Given the description of an element on the screen output the (x, y) to click on. 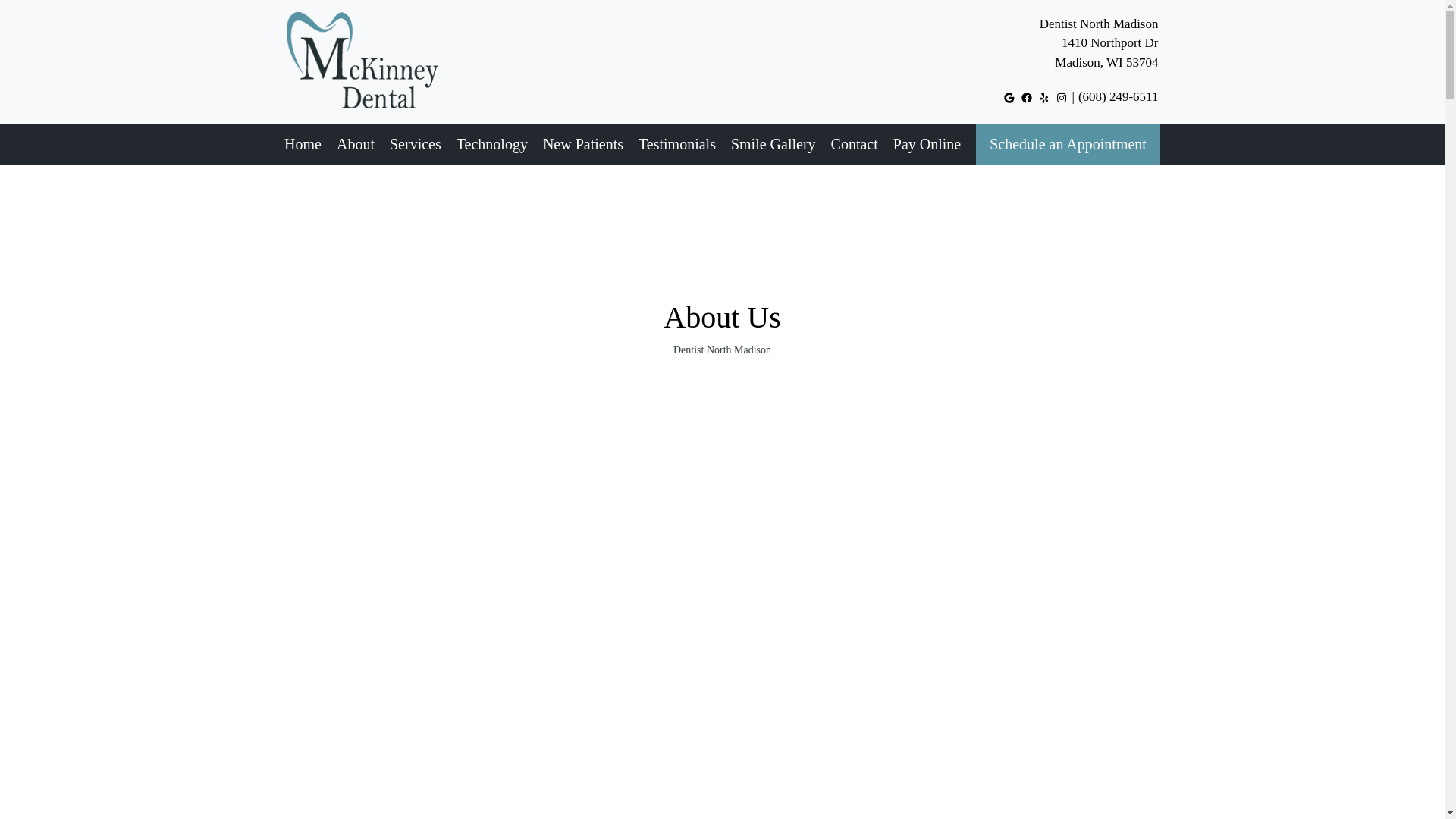
Facebook (1026, 97)
Home (302, 143)
Google (1008, 97)
Instagram (1061, 97)
About (1098, 42)
Yelp (355, 143)
Services (1043, 97)
